Given the description of an element on the screen output the (x, y) to click on. 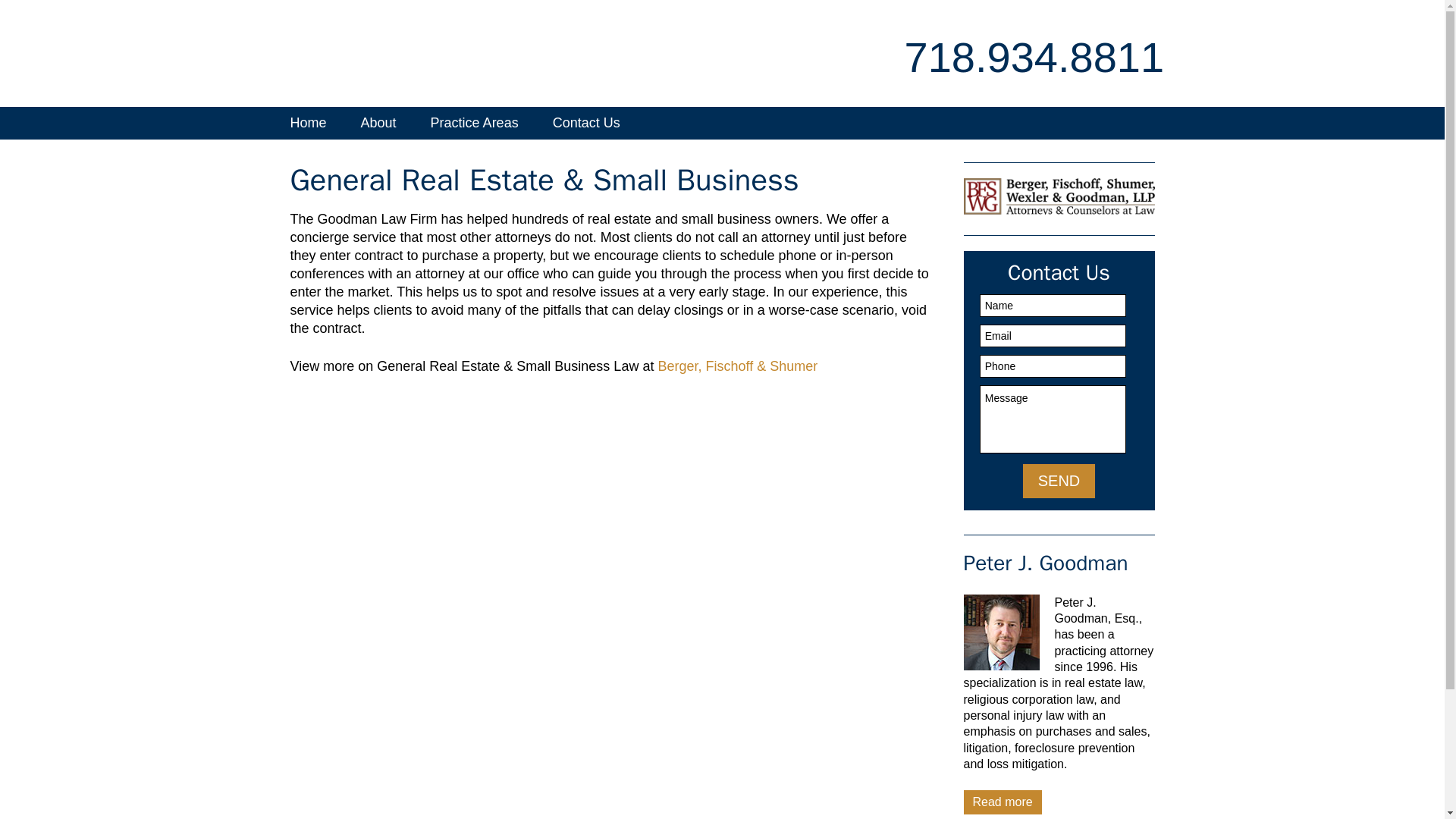
Home (307, 123)
Contact Us (585, 123)
THE GOODMAN LAW FIRM (421, 56)
About (379, 123)
Practice Areas (474, 123)
Read more (1001, 802)
SEND (1059, 480)
SEND (1059, 480)
